Given the description of an element on the screen output the (x, y) to click on. 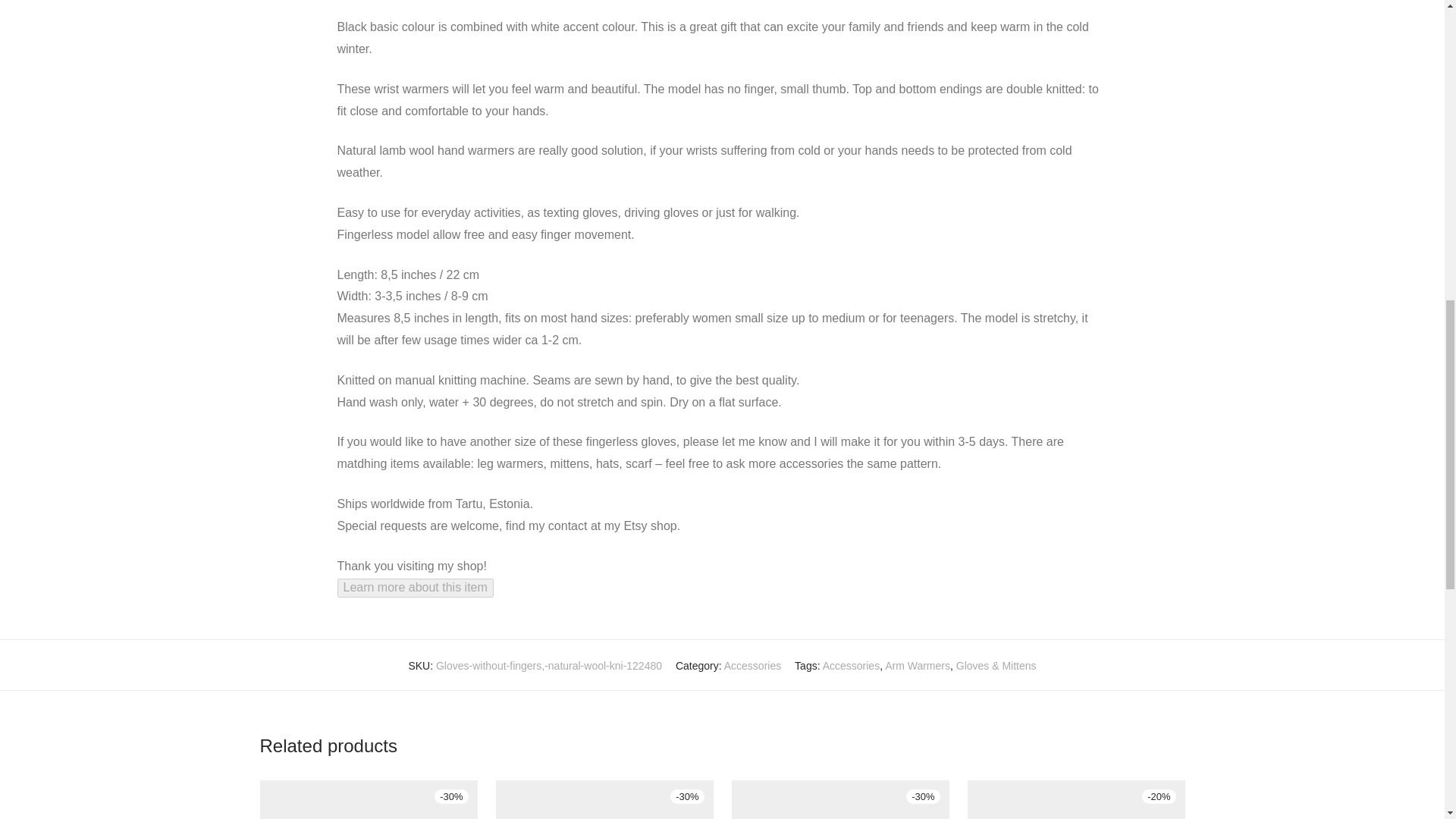
Learn more about this item (414, 587)
